Given the description of an element on the screen output the (x, y) to click on. 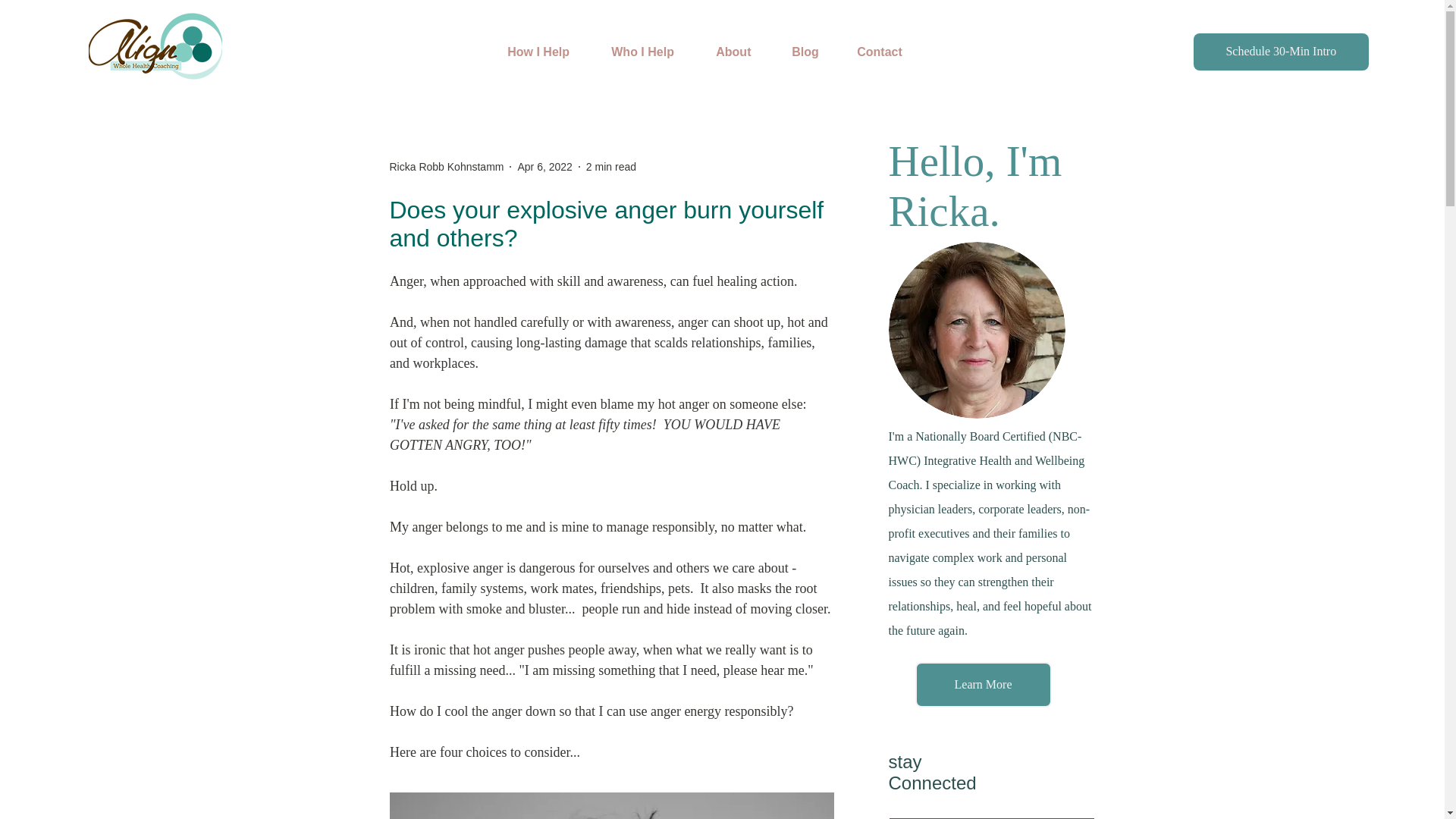
Apr 6, 2022 (544, 166)
Learn More (982, 684)
How I Help (547, 51)
About (742, 51)
Ricka Robb Kohnstamm (446, 166)
2 min read (611, 166)
Who I Help (651, 51)
